Given the description of an element on the screen output the (x, y) to click on. 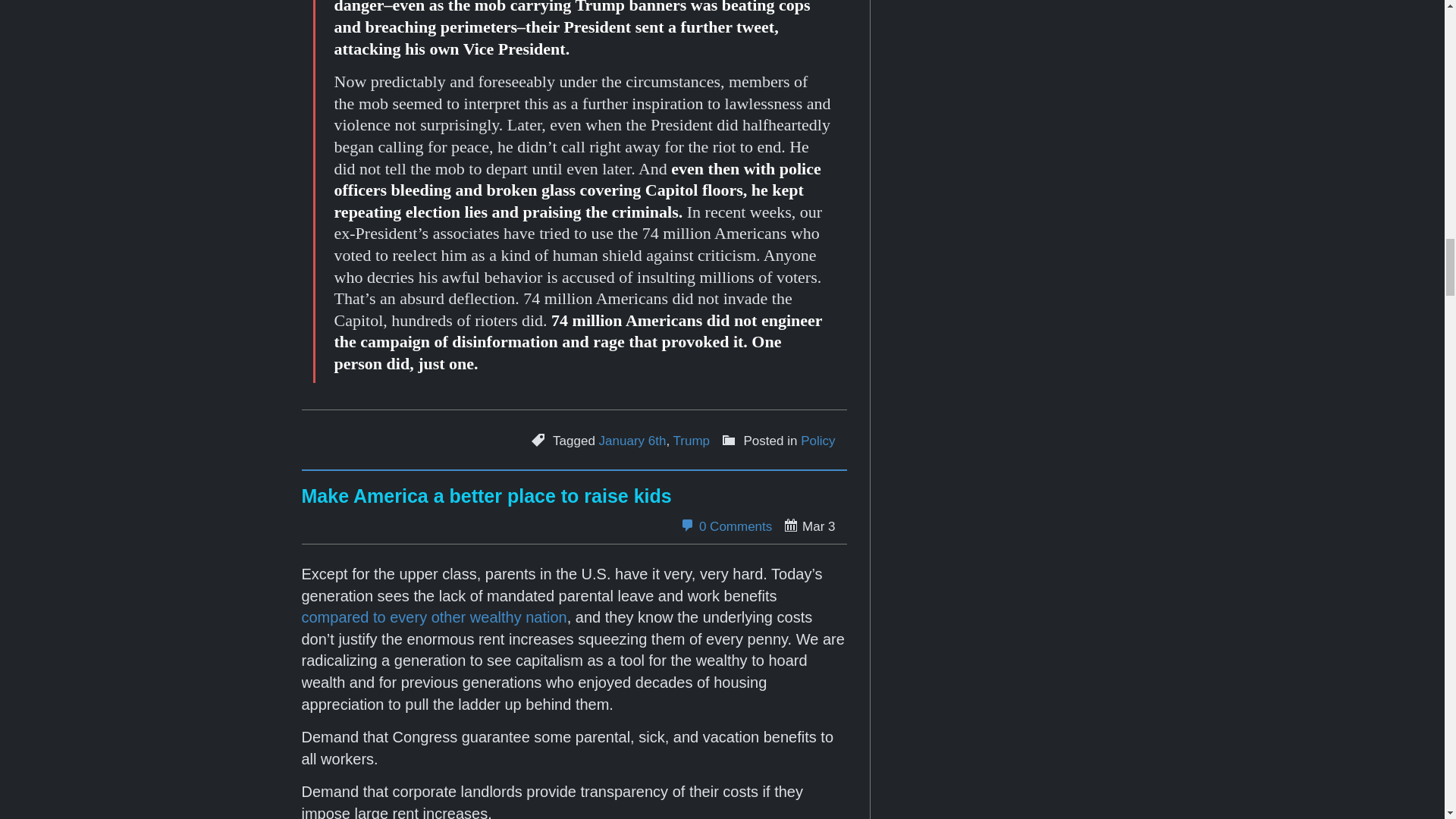
Trump (691, 440)
Make America a better place to raise kids (486, 495)
0 Comments (725, 526)
Policy (817, 440)
Sunday, March 3, 2024 8:01 pm (808, 526)
January 6th (632, 440)
compared to every other wealthy nation (434, 617)
